Given the description of an element on the screen output the (x, y) to click on. 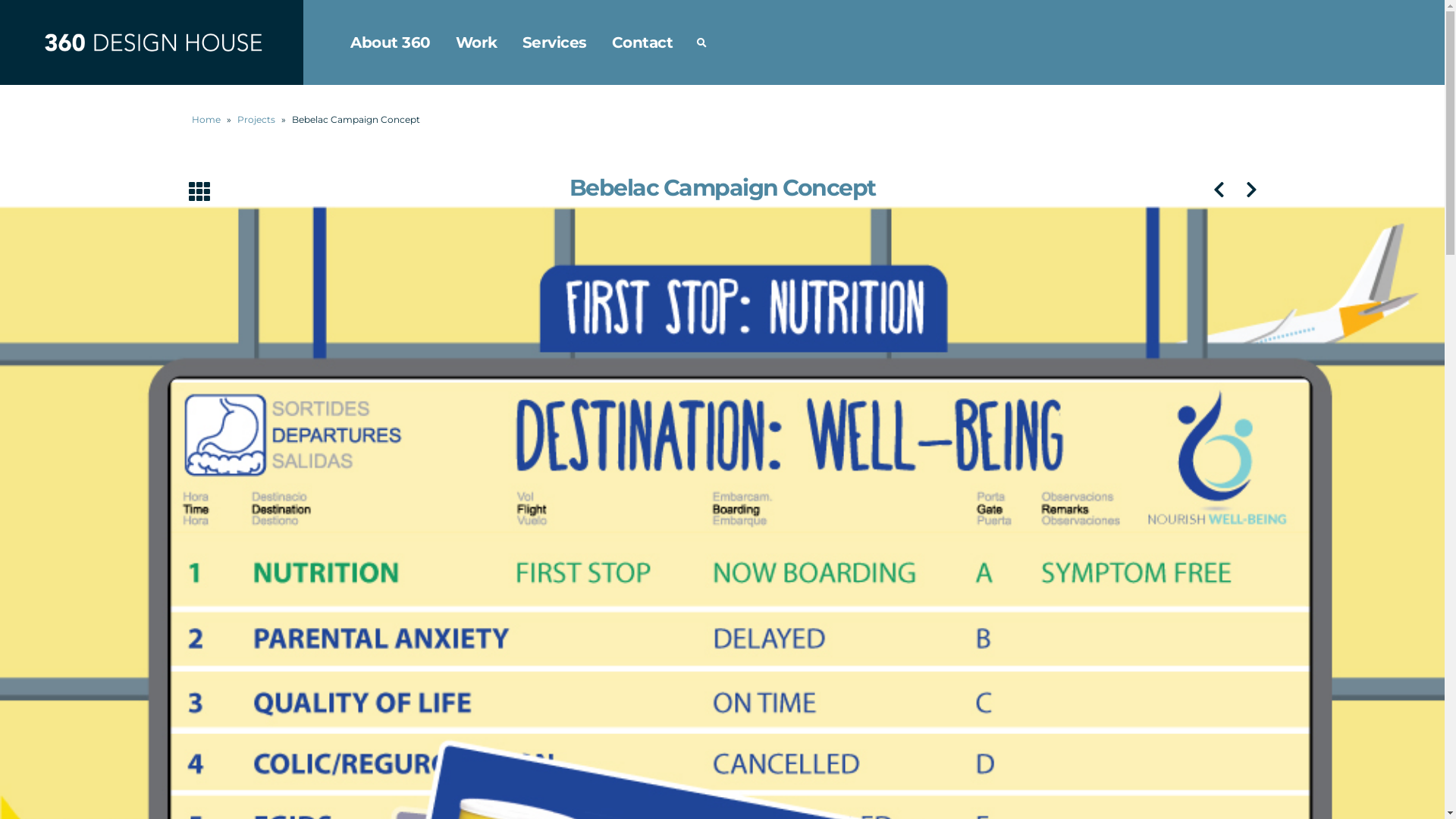
Work Element type: text (475, 42)
Projects Element type: text (255, 119)
Services Element type: text (553, 42)
360 Design House - Turn Things Around Element type: hover (151, 42)
Home Element type: text (205, 119)
About 360 Element type: text (390, 42)
Contact Element type: text (641, 42)
